Given the description of an element on the screen output the (x, y) to click on. 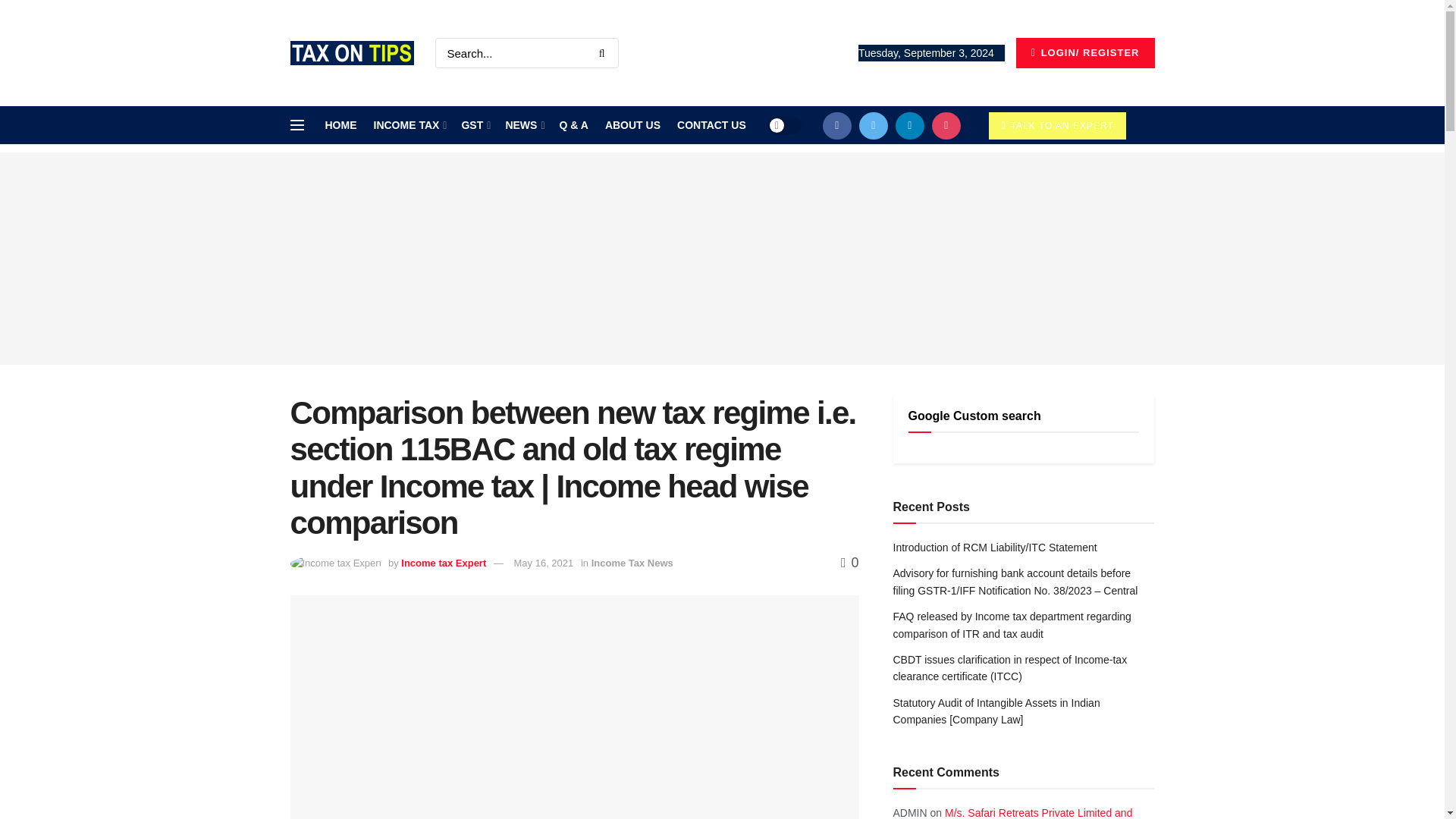
CONTACT US (711, 124)
GST (474, 124)
ABOUT US (633, 124)
NEWS (523, 124)
HOME (340, 124)
INCOME TAX (408, 124)
TALK TO AN EXPERT (1056, 125)
